Given the description of an element on the screen output the (x, y) to click on. 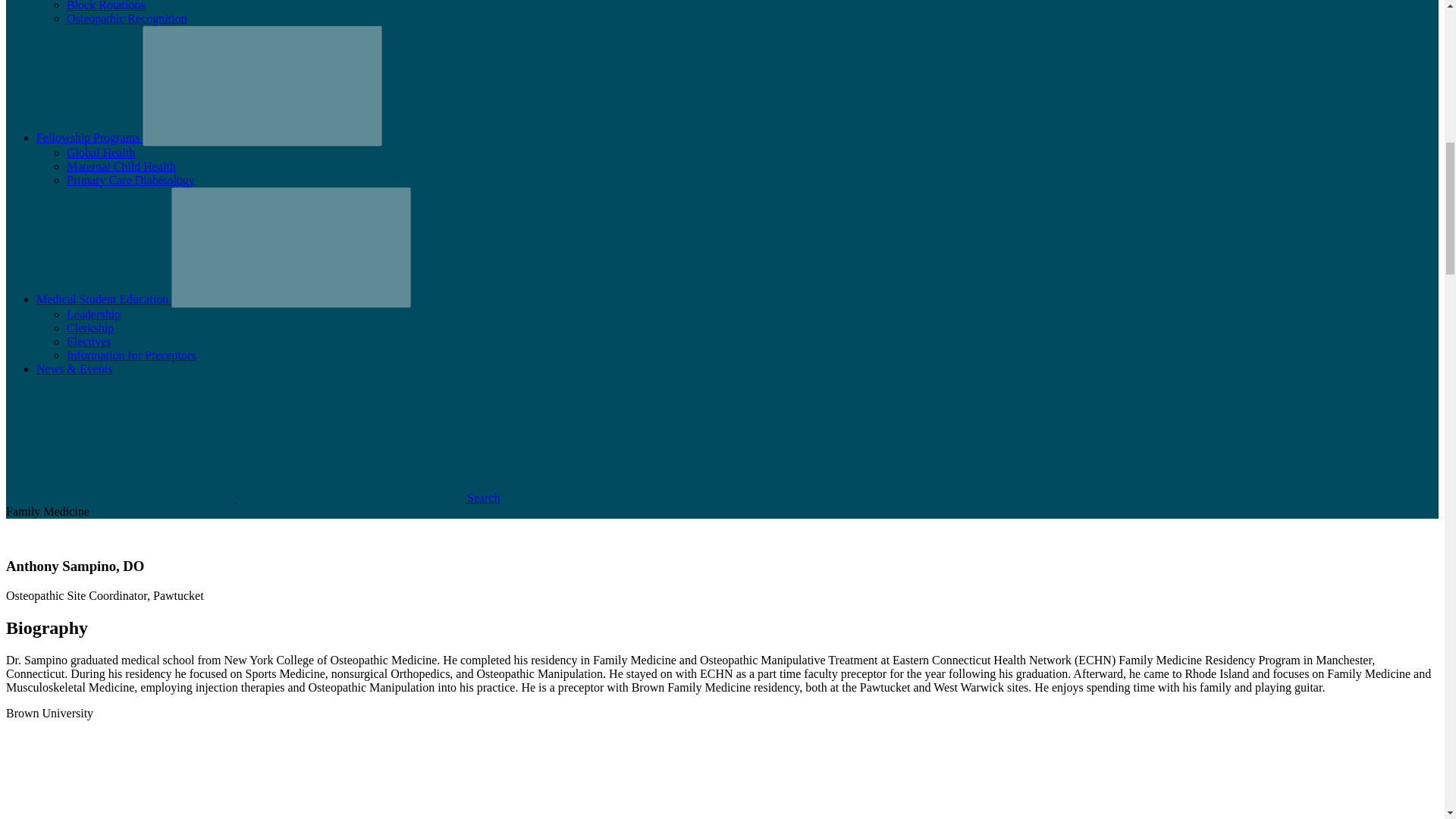
Maternal Child Health (121, 165)
Medical Student Education (103, 298)
Block Rotations (105, 5)
Global Health (100, 152)
Primary Care Diabetology (130, 179)
Clerkship (89, 327)
Fellowship Programs (89, 137)
Search (252, 497)
Information for Preceptors (131, 354)
Osteopathic Recognition (126, 18)
